Given the description of an element on the screen output the (x, y) to click on. 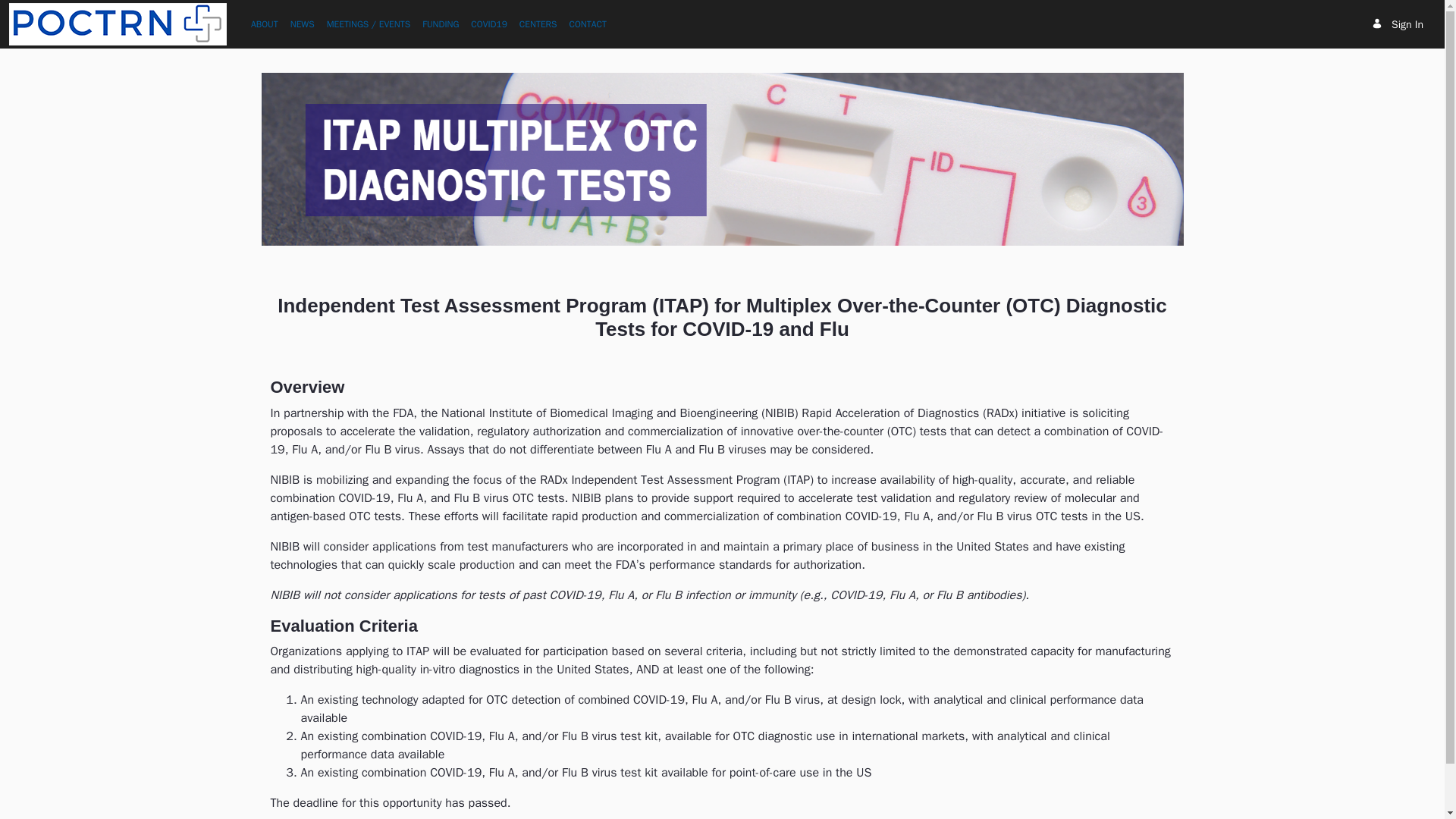
FUNDING (440, 23)
ABOUT (263, 23)
CONTACT (586, 23)
COVID19 (488, 23)
CENTERS (538, 23)
Go to POCTRN (117, 24)
NEWS (301, 23)
Sign In (1397, 24)
